Given the description of an element on the screen output the (x, y) to click on. 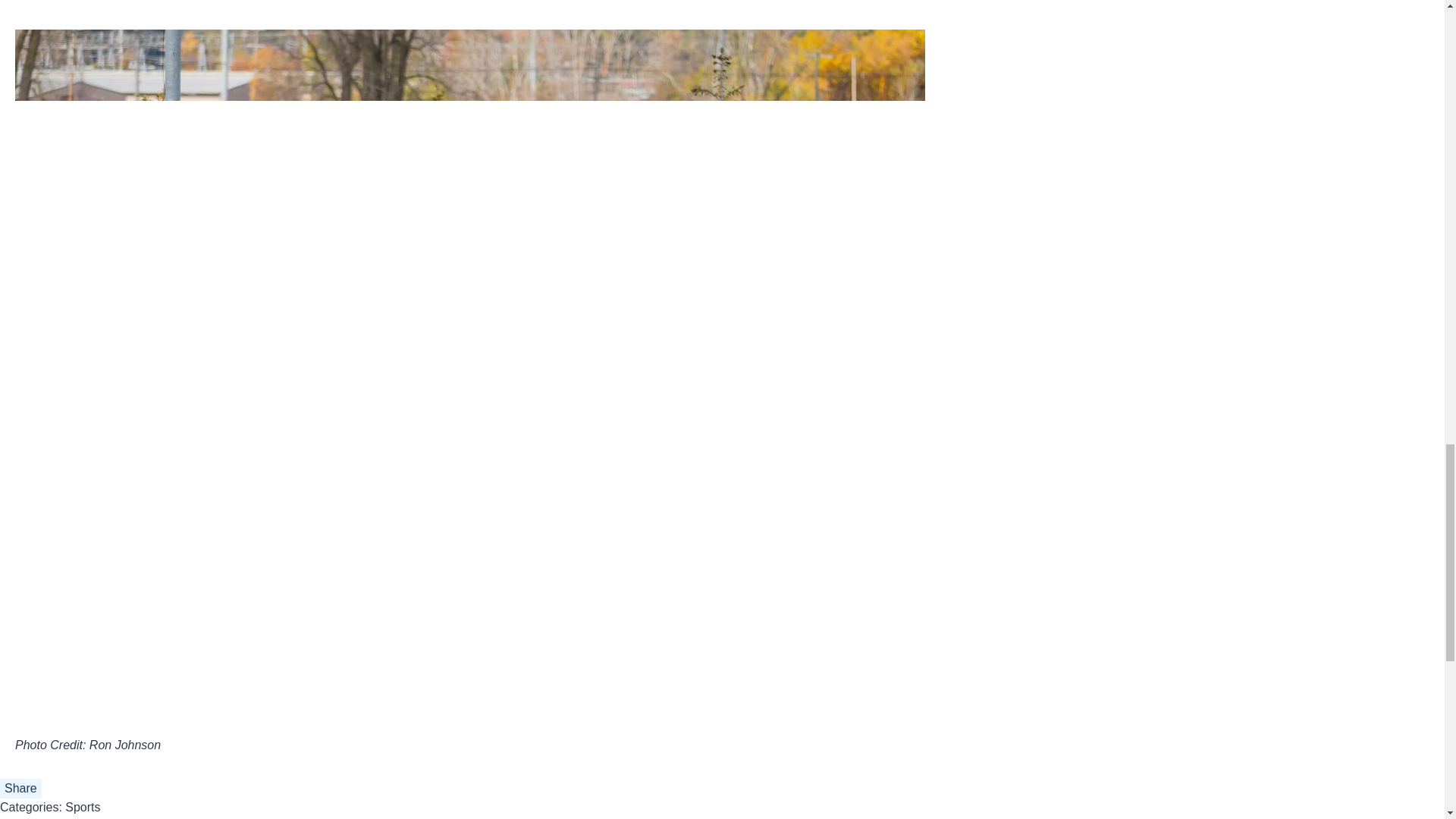
Share (21, 788)
Sports (82, 807)
888-326-5590 (793, 676)
